Given the description of an element on the screen output the (x, y) to click on. 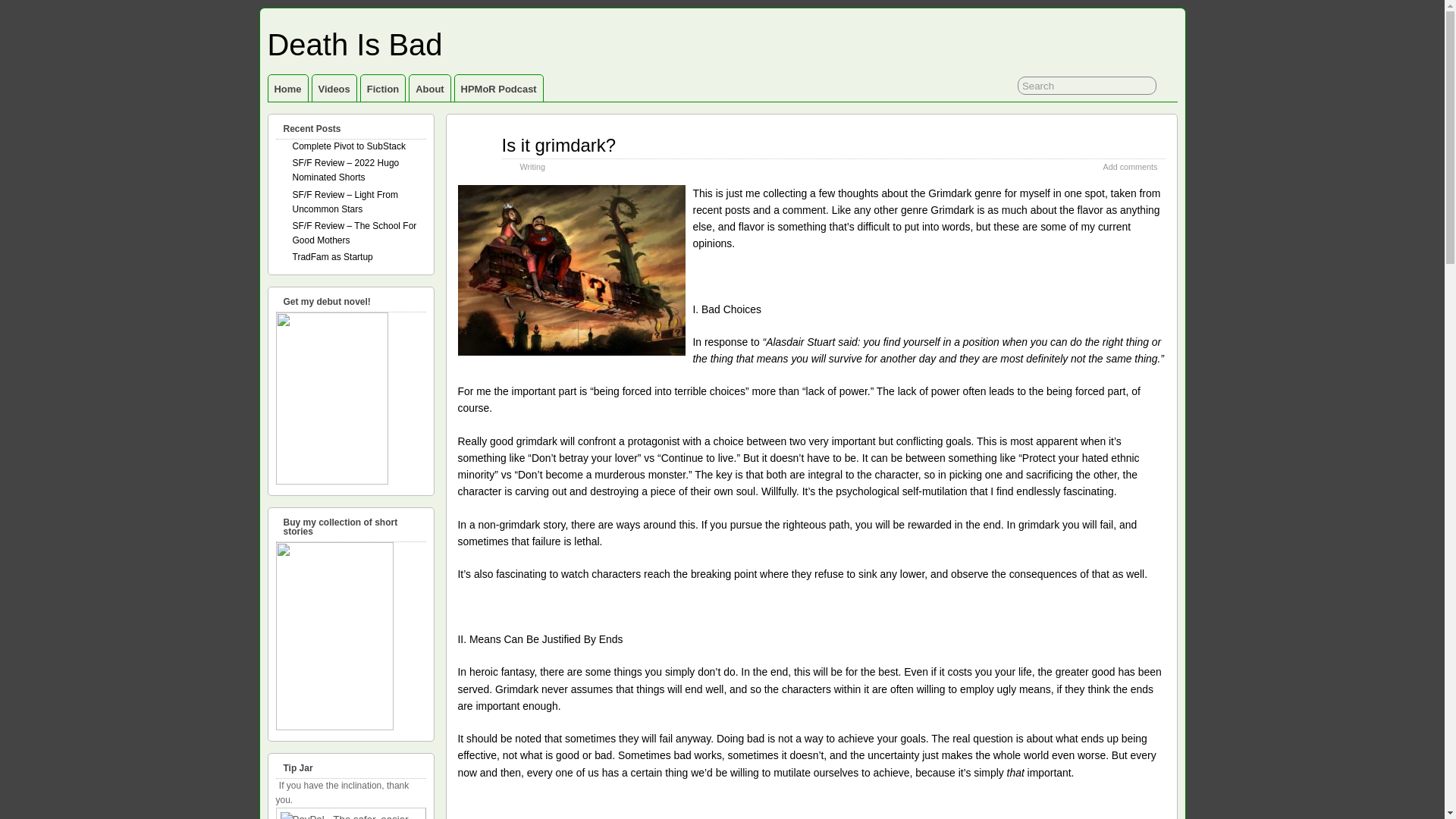
Writing (531, 166)
Videos (334, 88)
Search (1086, 85)
About (429, 88)
Complete Pivot to SubStack (349, 145)
Add comments (1129, 166)
Is it grimdark? (558, 145)
TradFam as Startup (332, 256)
Is it grimdark? (558, 145)
Search (1086, 85)
